Given the description of an element on the screen output the (x, y) to click on. 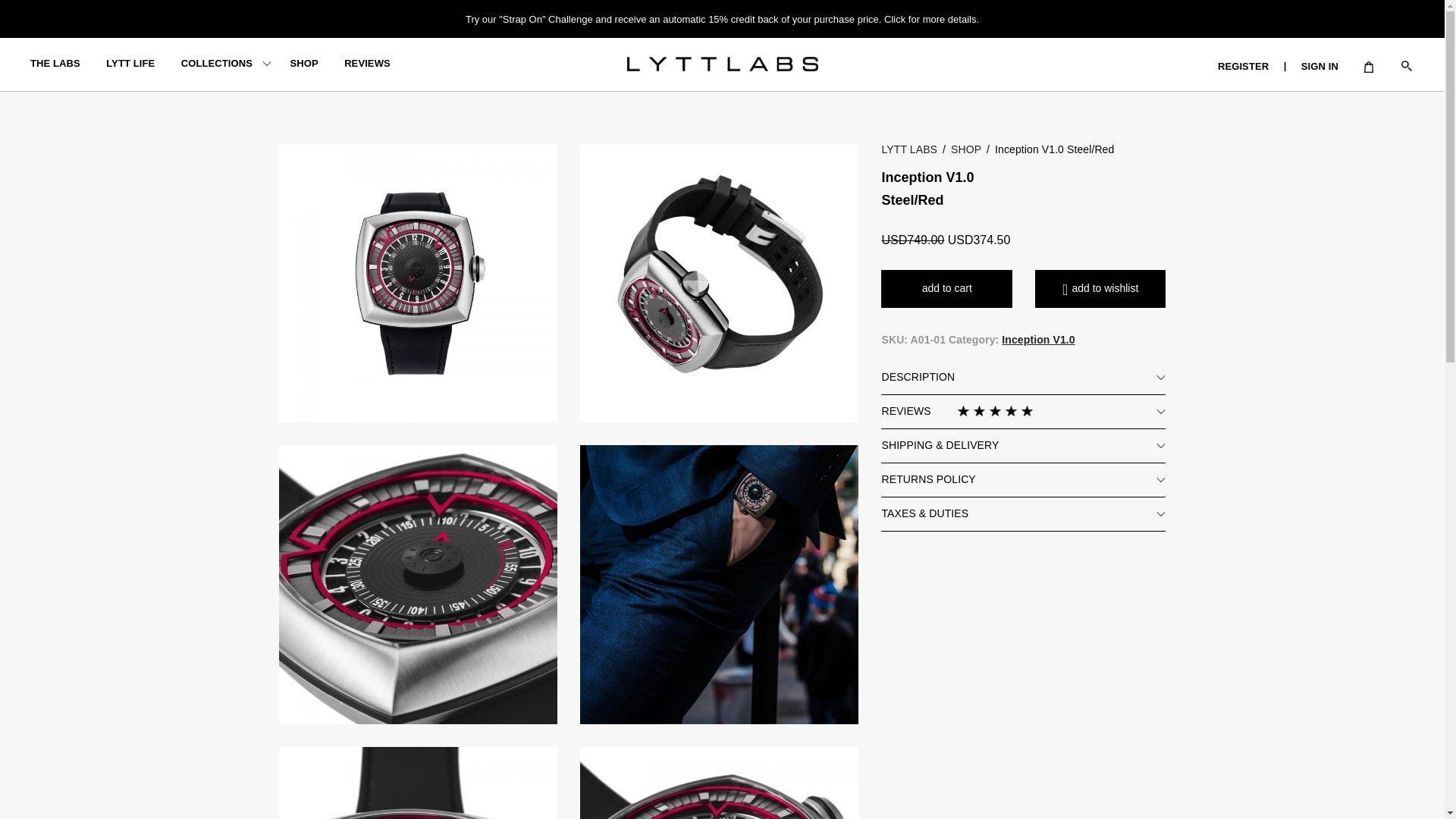
SHOP (303, 62)
SIGN IN (1319, 66)
LYTT LIFE (130, 62)
Lyttlabs Logo (721, 63)
REGISTER (1242, 66)
THE LABS (55, 62)
REVIEWS (366, 62)
COLLECTIONS (215, 62)
SEARCH (804, 18)
